Given the description of an element on the screen output the (x, y) to click on. 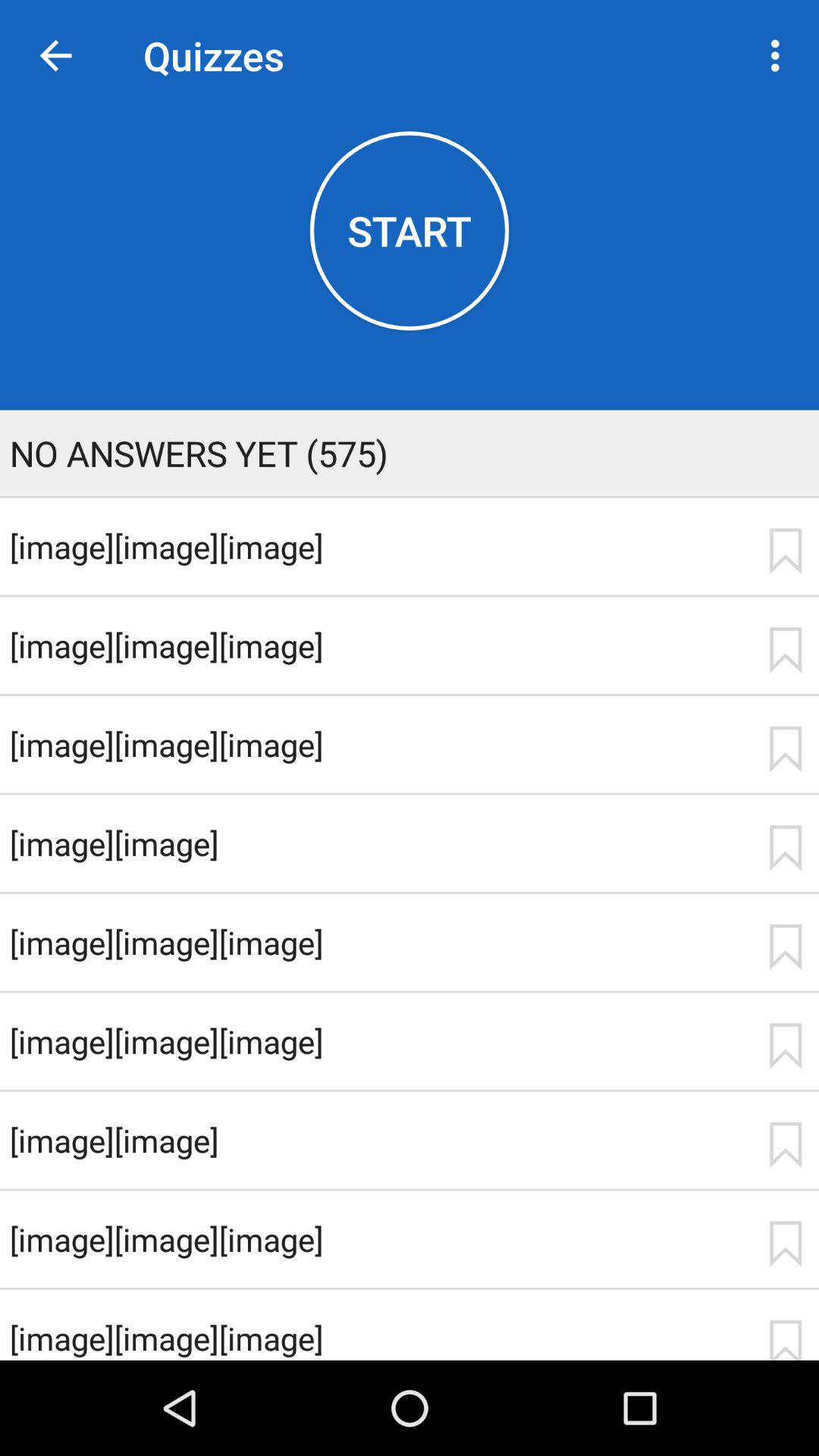
click the app next to the [image][image][image] (784, 551)
